Given the description of an element on the screen output the (x, y) to click on. 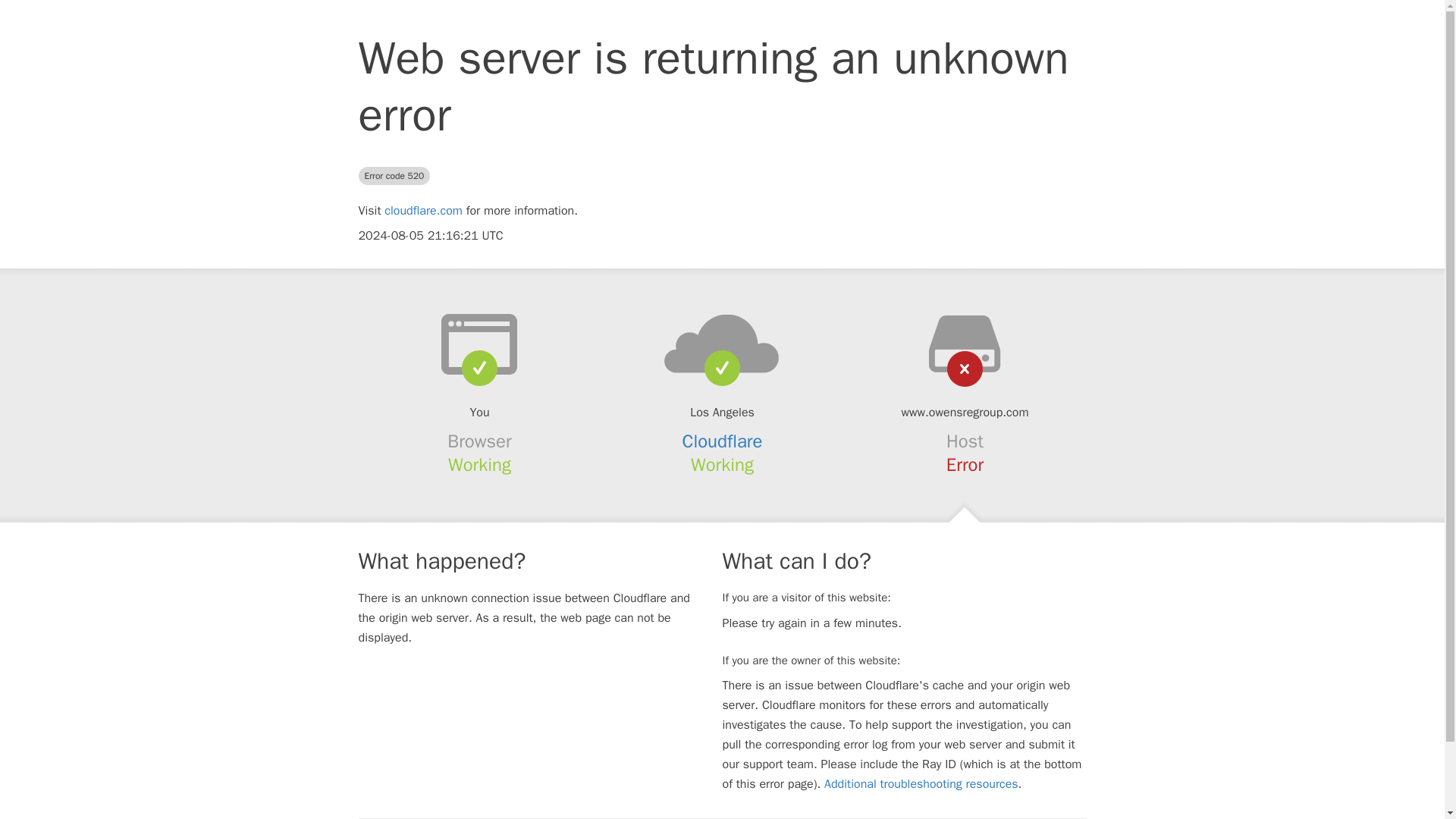
cloudflare.com (423, 210)
Additional troubleshooting resources (920, 783)
Cloudflare (722, 440)
